Given the description of an element on the screen output the (x, y) to click on. 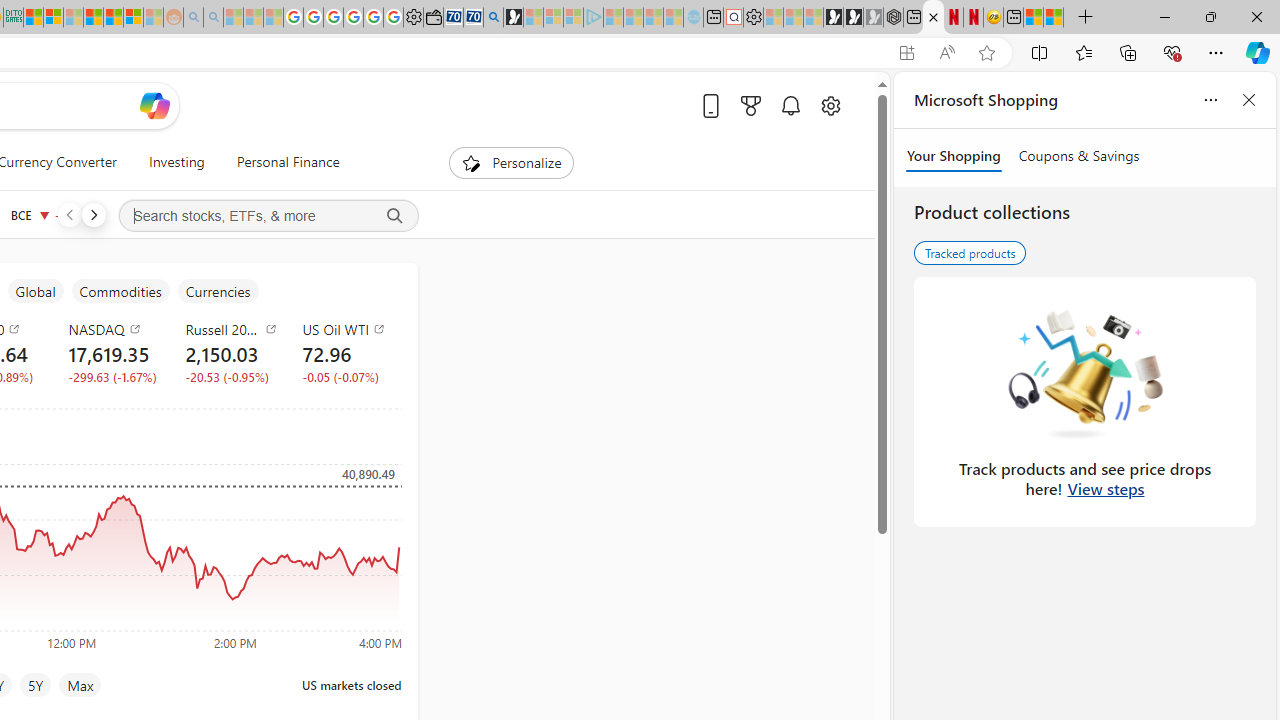
Personalize (511, 162)
Expert Portfolios (93, 17)
Bing Real Estate - Home sales and rental listings (493, 17)
Kinda Frugal - MSN (112, 17)
US Oil WTI (348, 328)
